Given the description of an element on the screen output the (x, y) to click on. 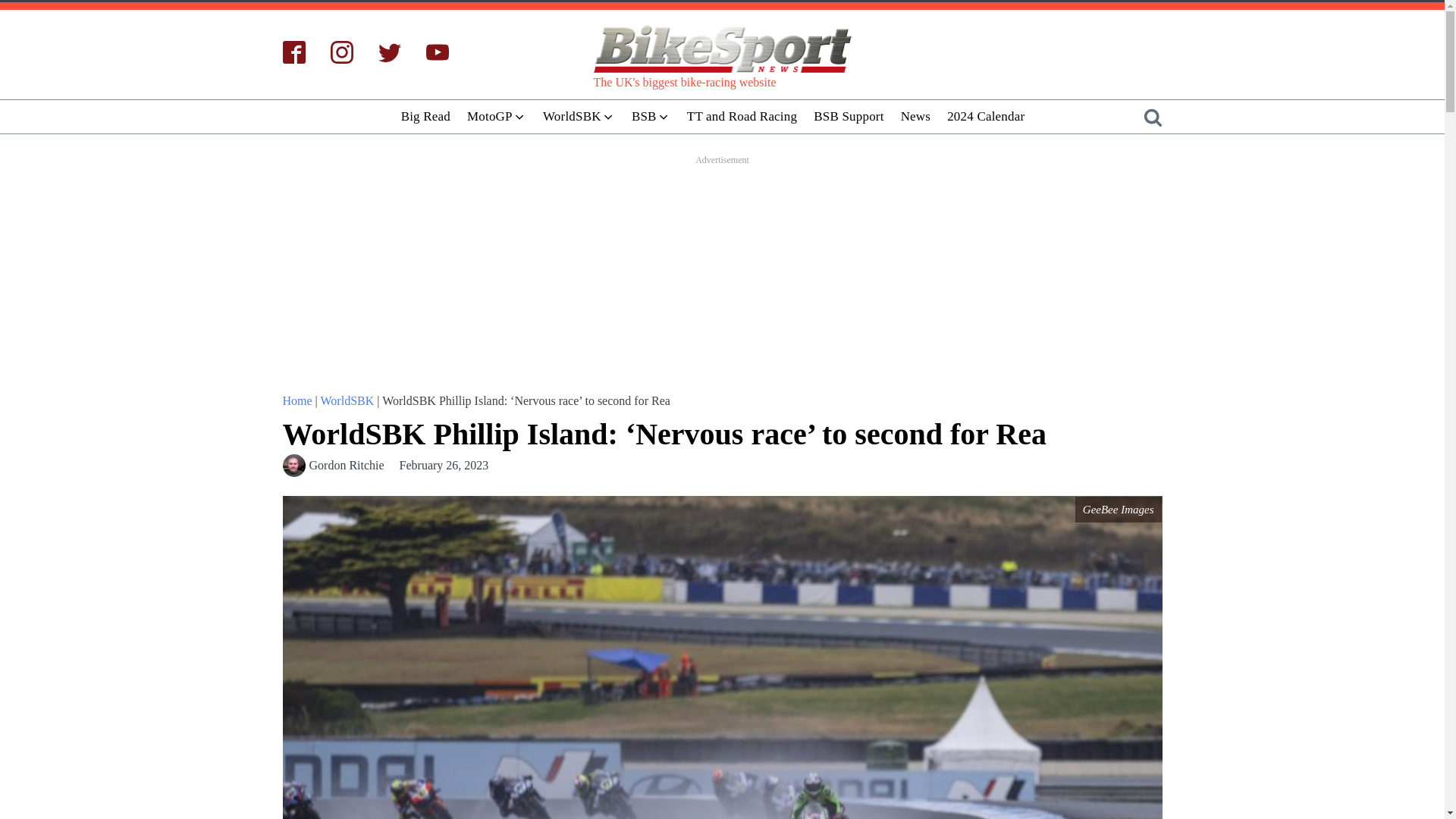
WorldSBK (578, 116)
BSB (650, 116)
GeeBee Images (1118, 509)
Home (296, 400)
WorldSBK (347, 400)
TT and Road Racing (741, 116)
2024 Calendar (985, 116)
News (915, 116)
Big Read (425, 116)
BSB Support (848, 116)
Gordon Ritchie (346, 465)
The UK's biggest bike-racing website (721, 50)
MotoGP (496, 116)
